Given the description of an element on the screen output the (x, y) to click on. 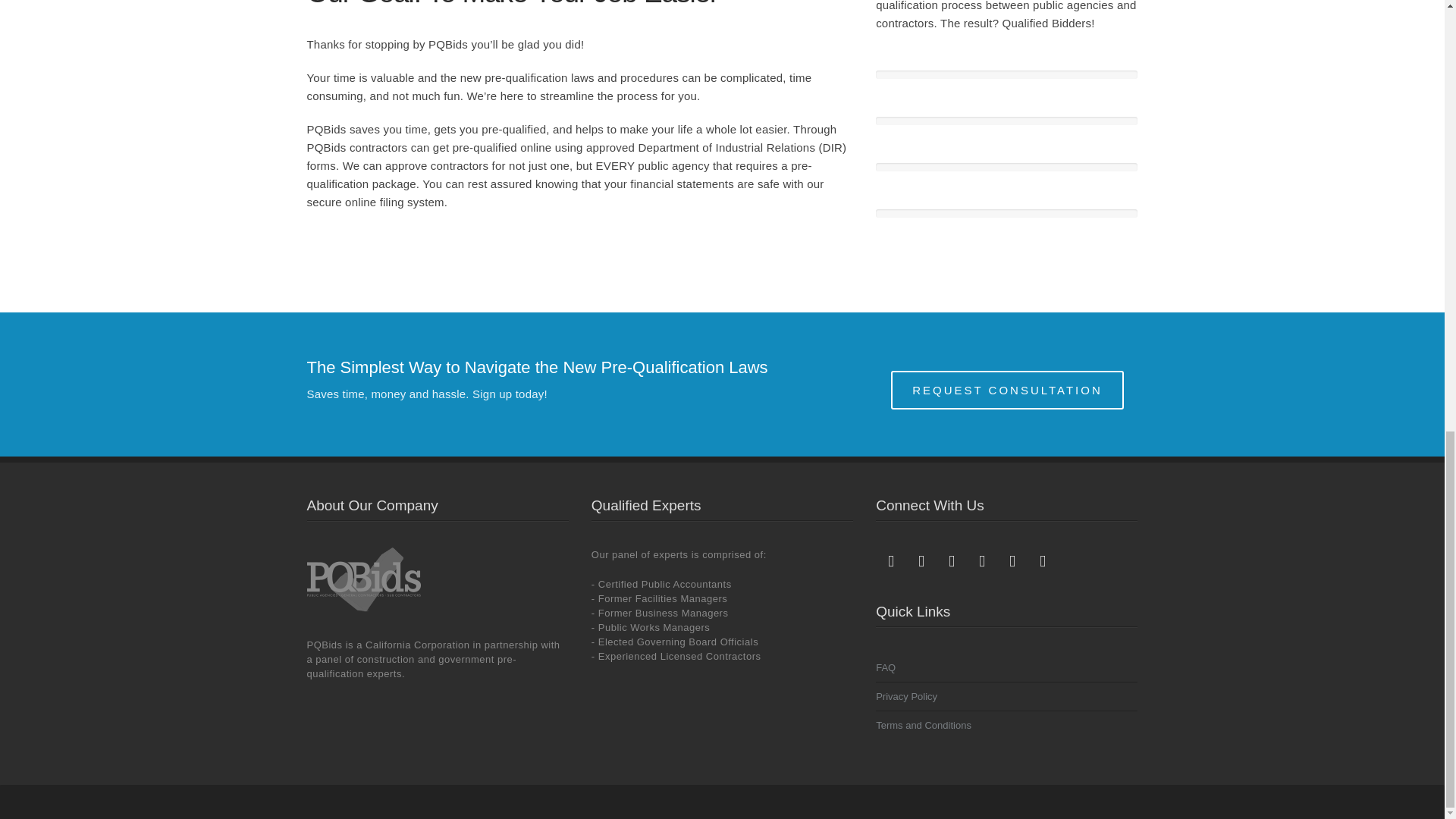
Privacy Policy (908, 696)
Terms and Conditions (925, 725)
REQUEST CONSULTATION (1007, 390)
FAQ (887, 667)
